Given the description of an element on the screen output the (x, y) to click on. 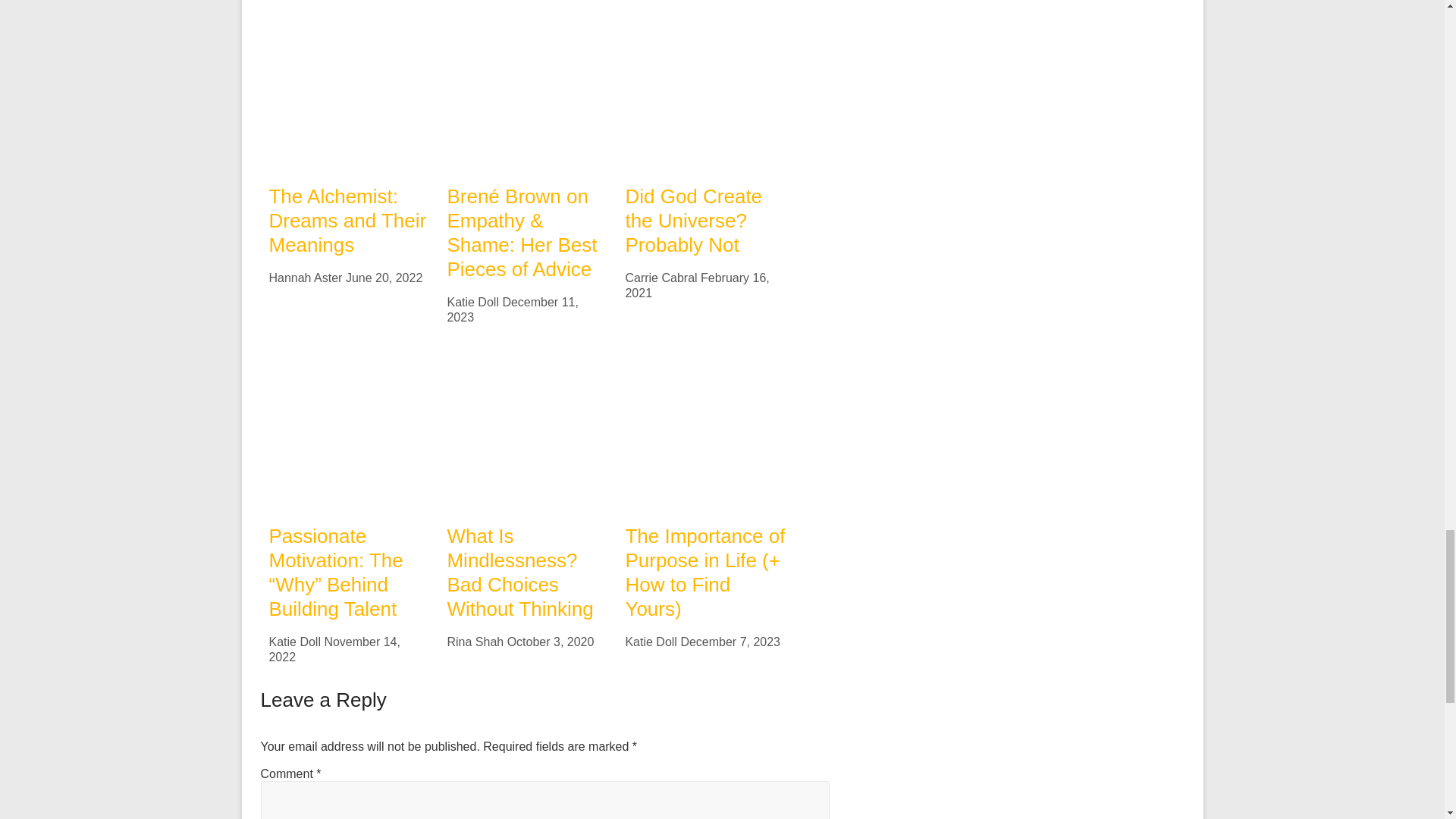
Did God Create the Universe? Probably Not (705, 89)
The Alchemist: Dreams and Their Meanings (348, 15)
Hannah Aster (304, 277)
12:31 pm (384, 277)
1:13 pm (696, 285)
The Alchemist: Dreams and Their Meanings (346, 220)
The Alchemist: Dreams and Their Meanings (348, 89)
Did God Create the Universe? Probably Not (692, 220)
The Alchemist: Dreams and Their Meanings (346, 220)
June 20, 2022 (384, 277)
4:19 pm (512, 309)
Did God Create the Universe? Probably Not (705, 15)
